Given the description of an element on the screen output the (x, y) to click on. 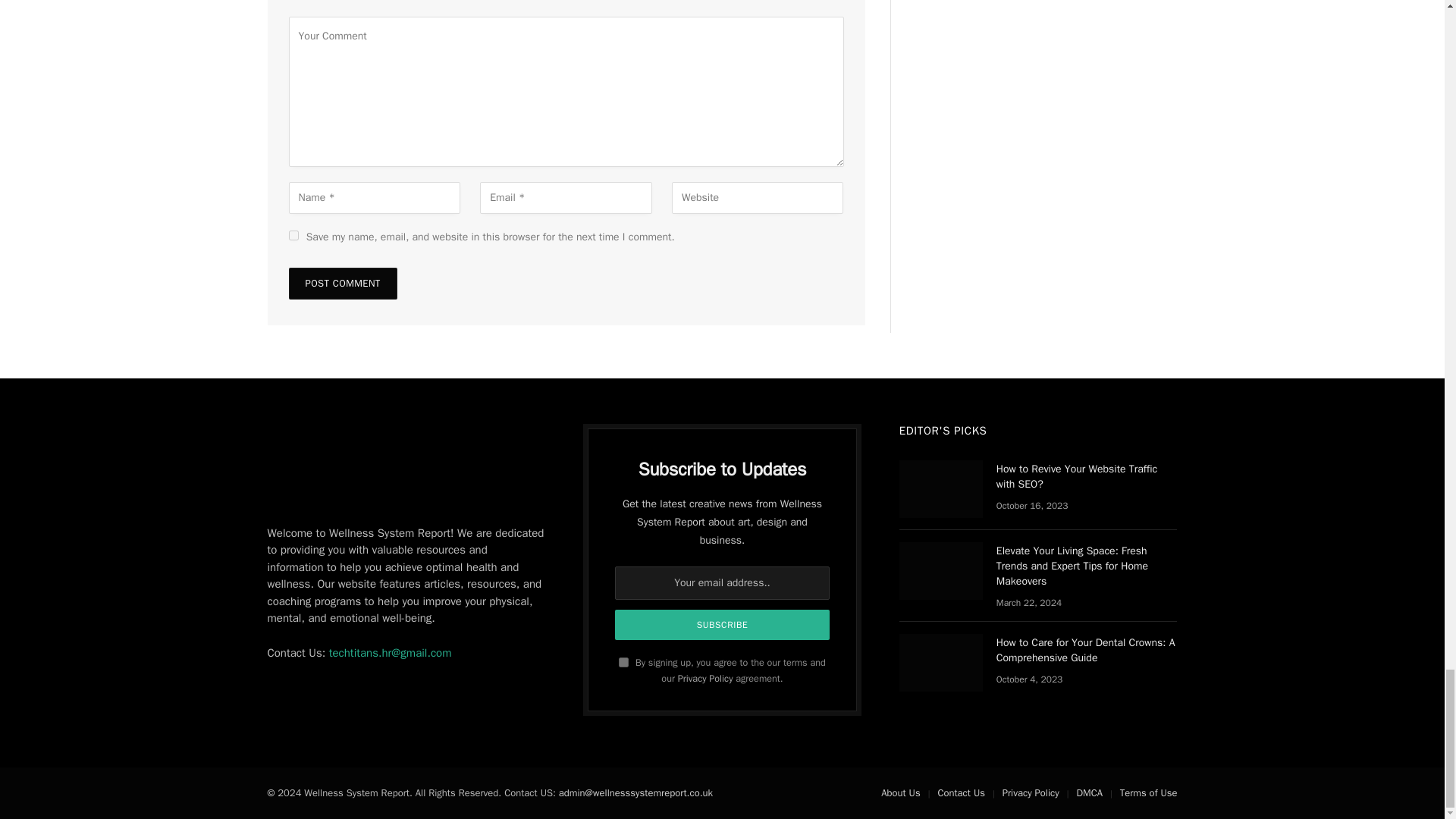
on (623, 662)
Post Comment (342, 283)
How to Revive Your Website Traffic with SEO? (940, 488)
Subscribe (721, 624)
yes (293, 235)
